Given the description of an element on the screen output the (x, y) to click on. 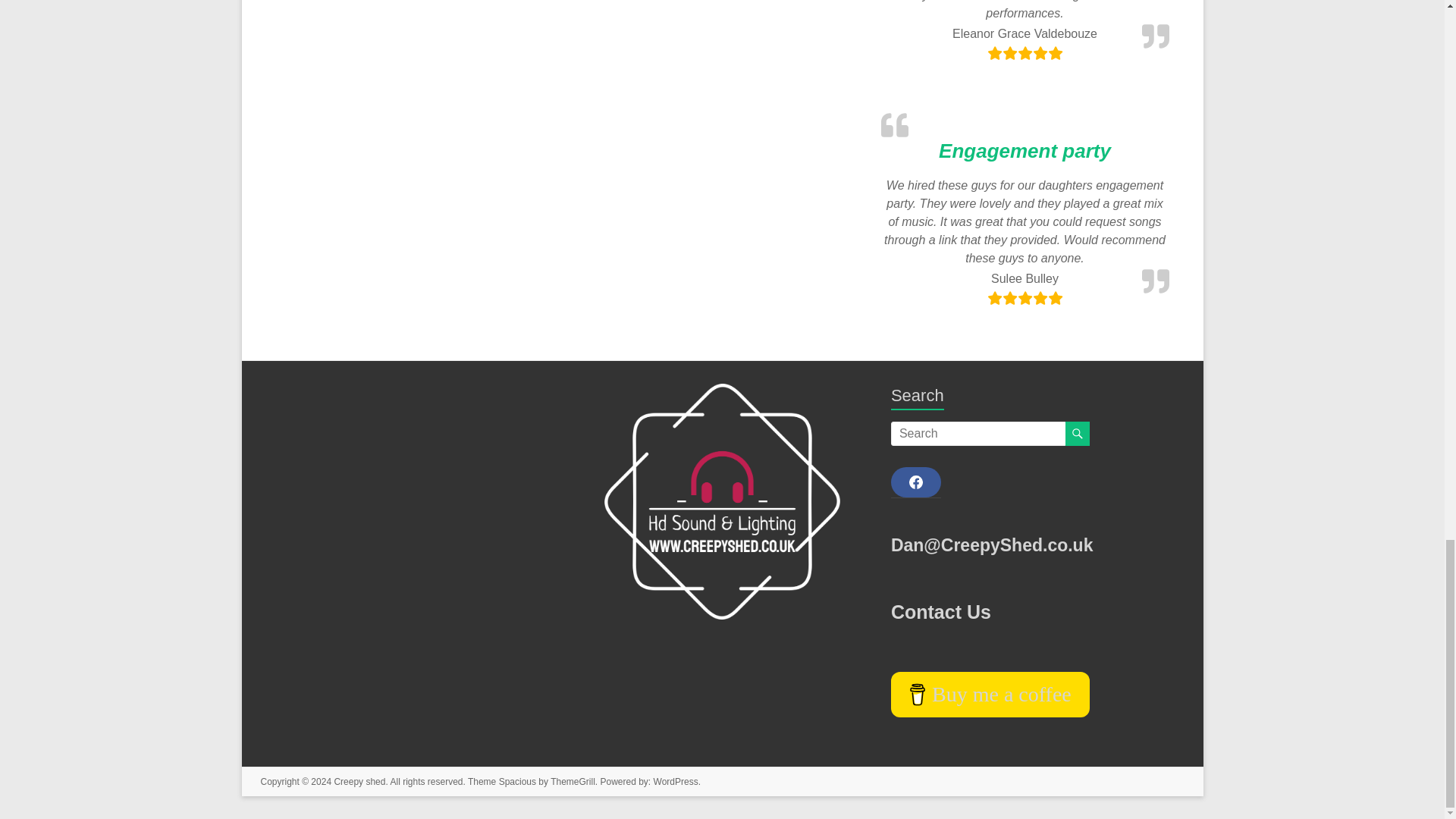
Facebook (915, 481)
Creepy shed (359, 781)
WordPress (675, 781)
Spacious (517, 781)
